Given the description of an element on the screen output the (x, y) to click on. 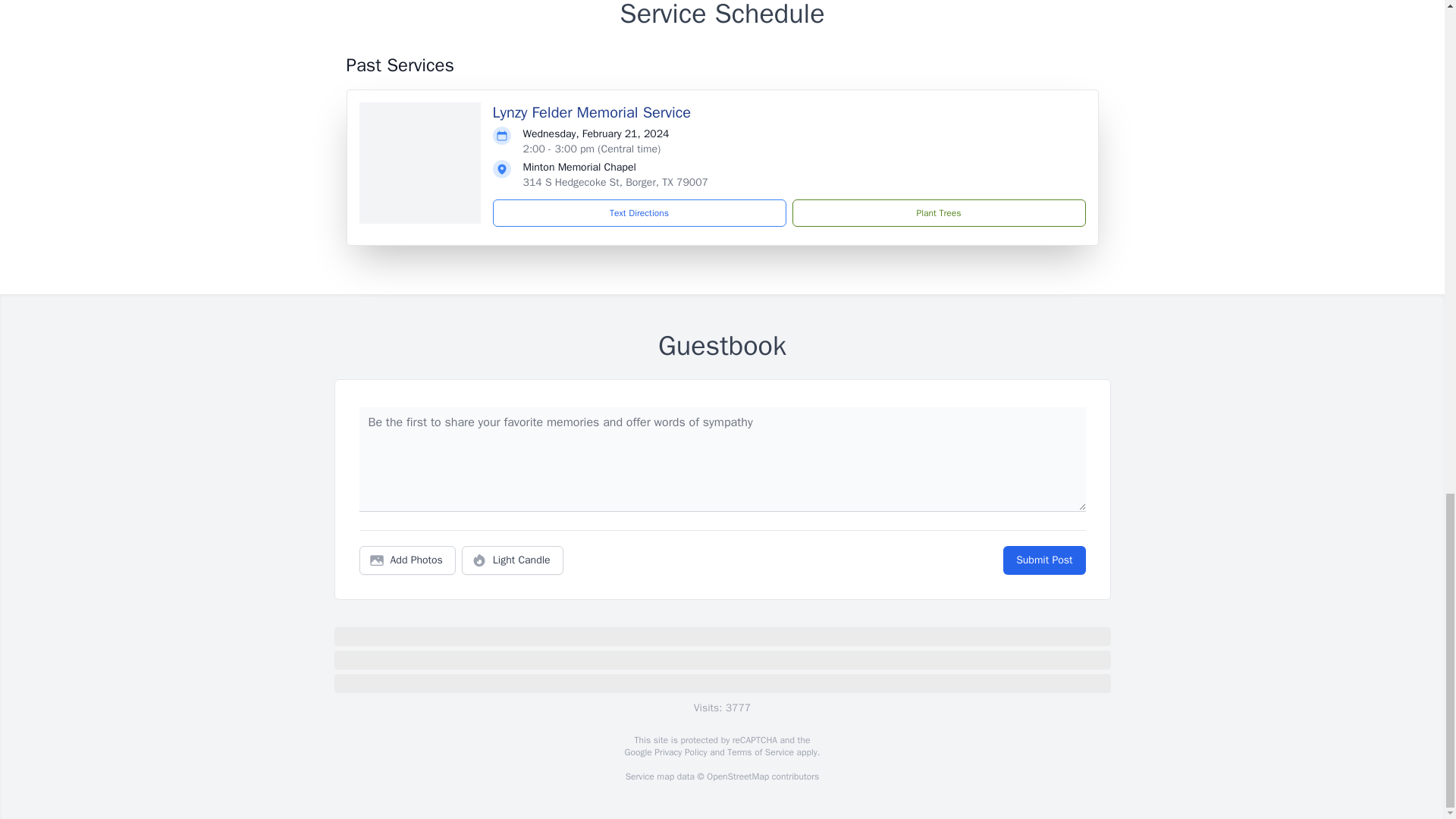
Light Candle (512, 560)
Add Photos (407, 560)
Privacy Policy (679, 752)
Terms of Service (759, 752)
Submit Post (1043, 560)
Text Directions (639, 212)
OpenStreetMap (737, 776)
Plant Trees (938, 212)
314 S Hedgecoke St, Borger, TX 79007 (614, 182)
